Given the description of an element on the screen output the (x, y) to click on. 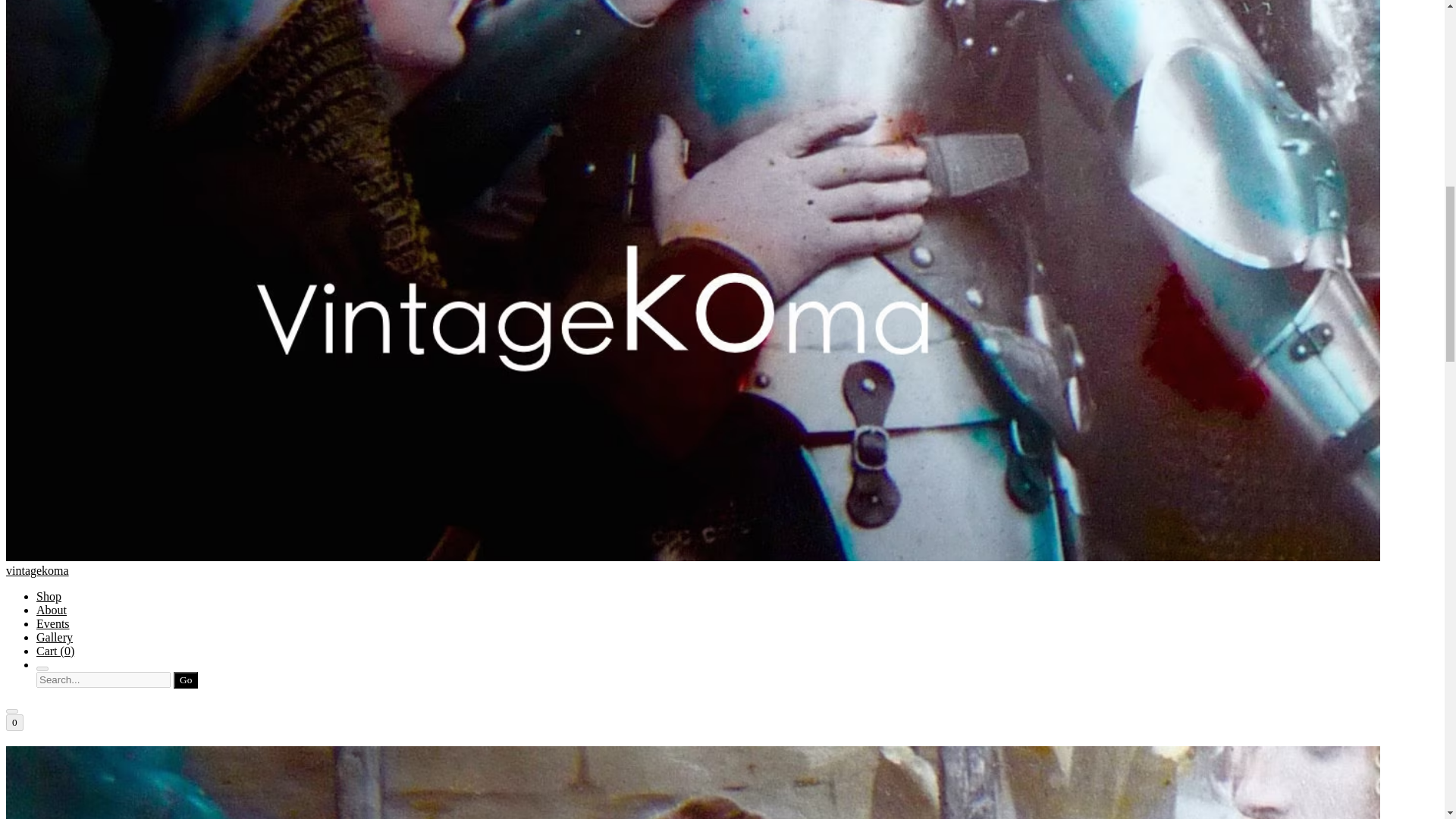
Go (185, 679)
Go (185, 679)
Shop (48, 595)
Events (52, 623)
Gallery (54, 636)
About (51, 609)
0 (14, 722)
